Given the description of an element on the screen output the (x, y) to click on. 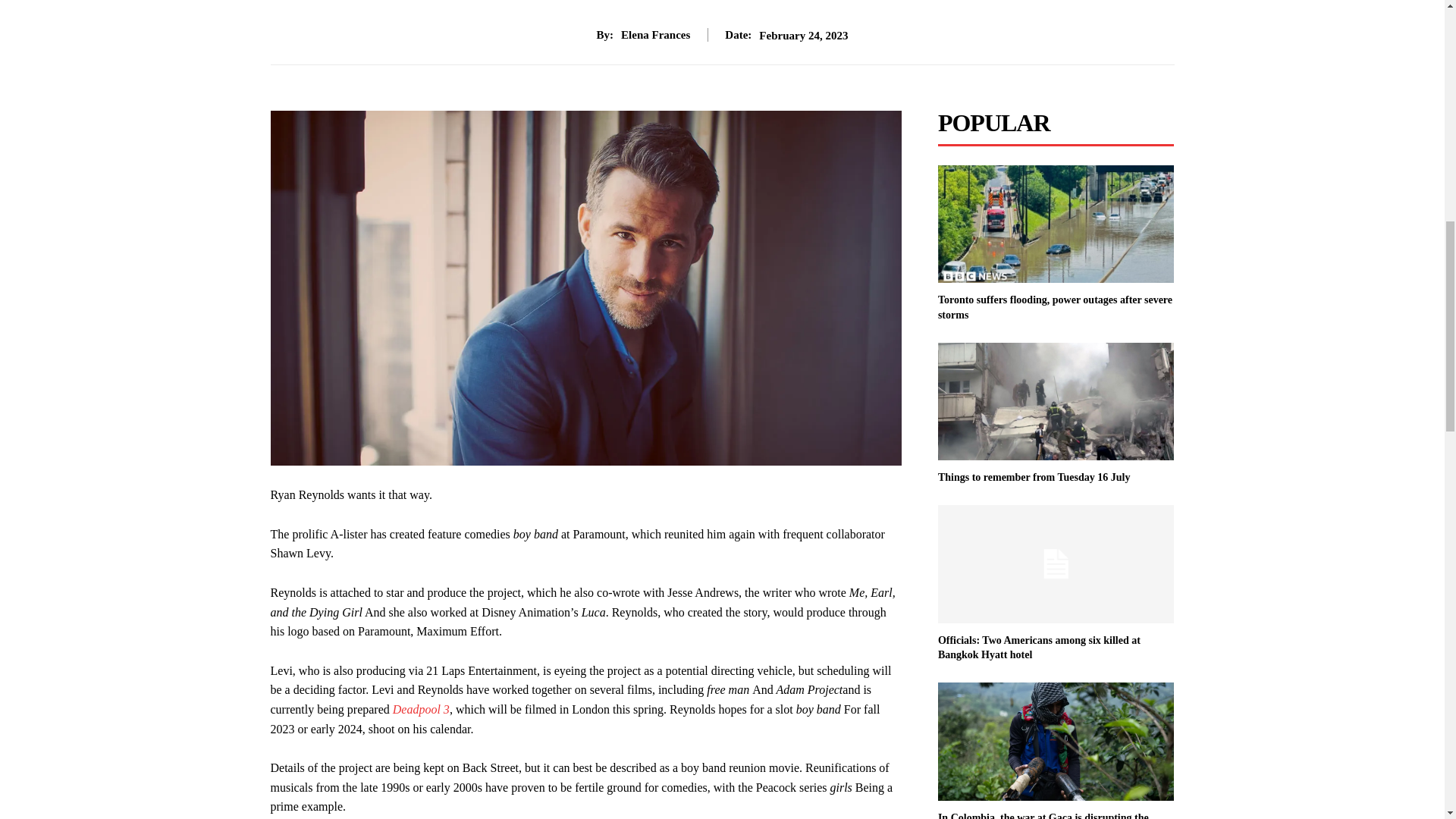
Toronto suffers flooding, power outages after severe storms (1055, 224)
Things to remember from Tuesday 16 July (1034, 477)
Things to remember from Tuesday 16 July (1055, 402)
Toronto suffers flooding, power outages after severe storms (1054, 307)
